Given the description of an element on the screen output the (x, y) to click on. 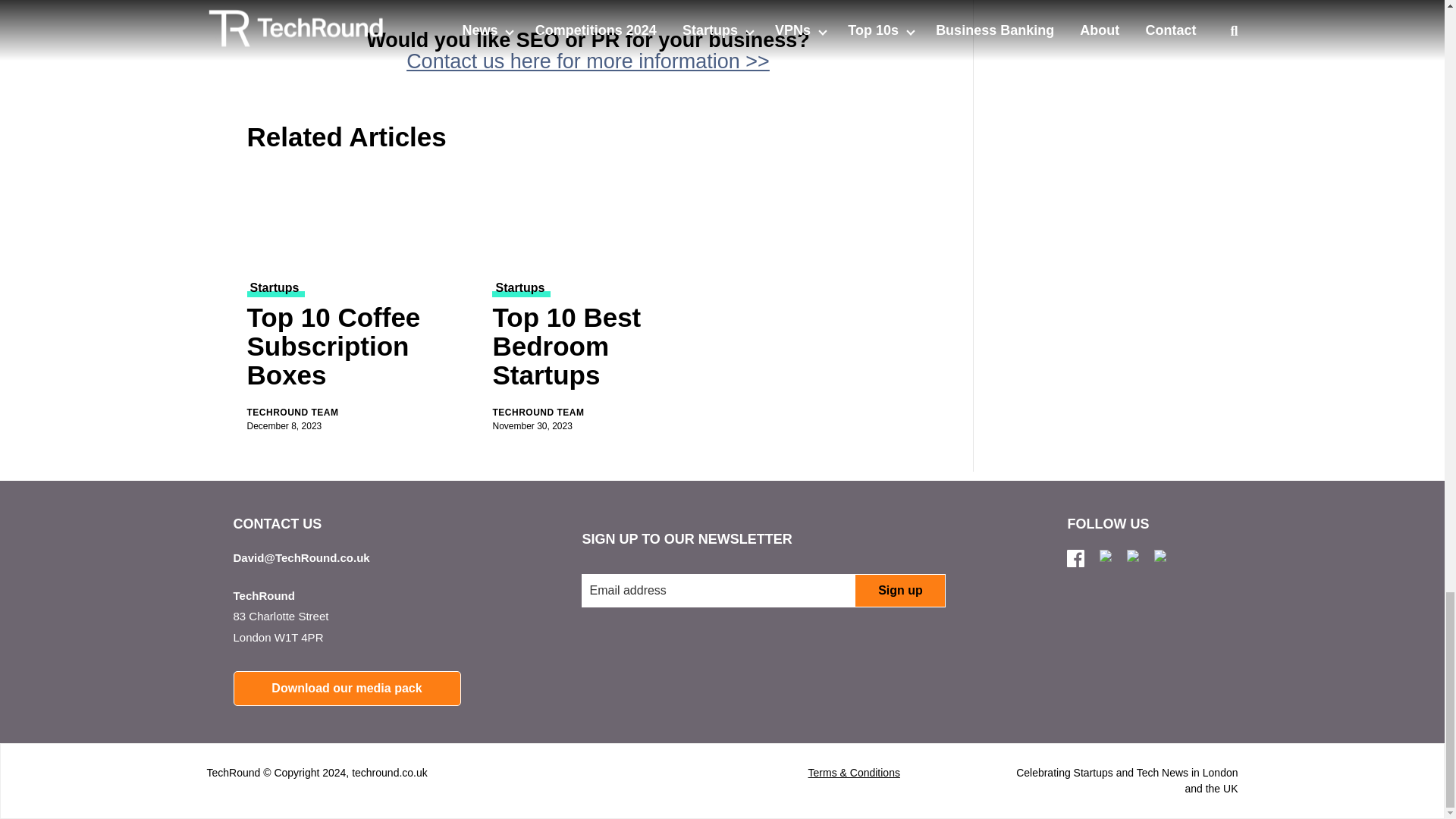
Sign up (899, 590)
Top 10 Coffee Subscription Boxes (360, 217)
Top 10 Coffee Subscription Boxes (360, 349)
